Given the description of an element on the screen output the (x, y) to click on. 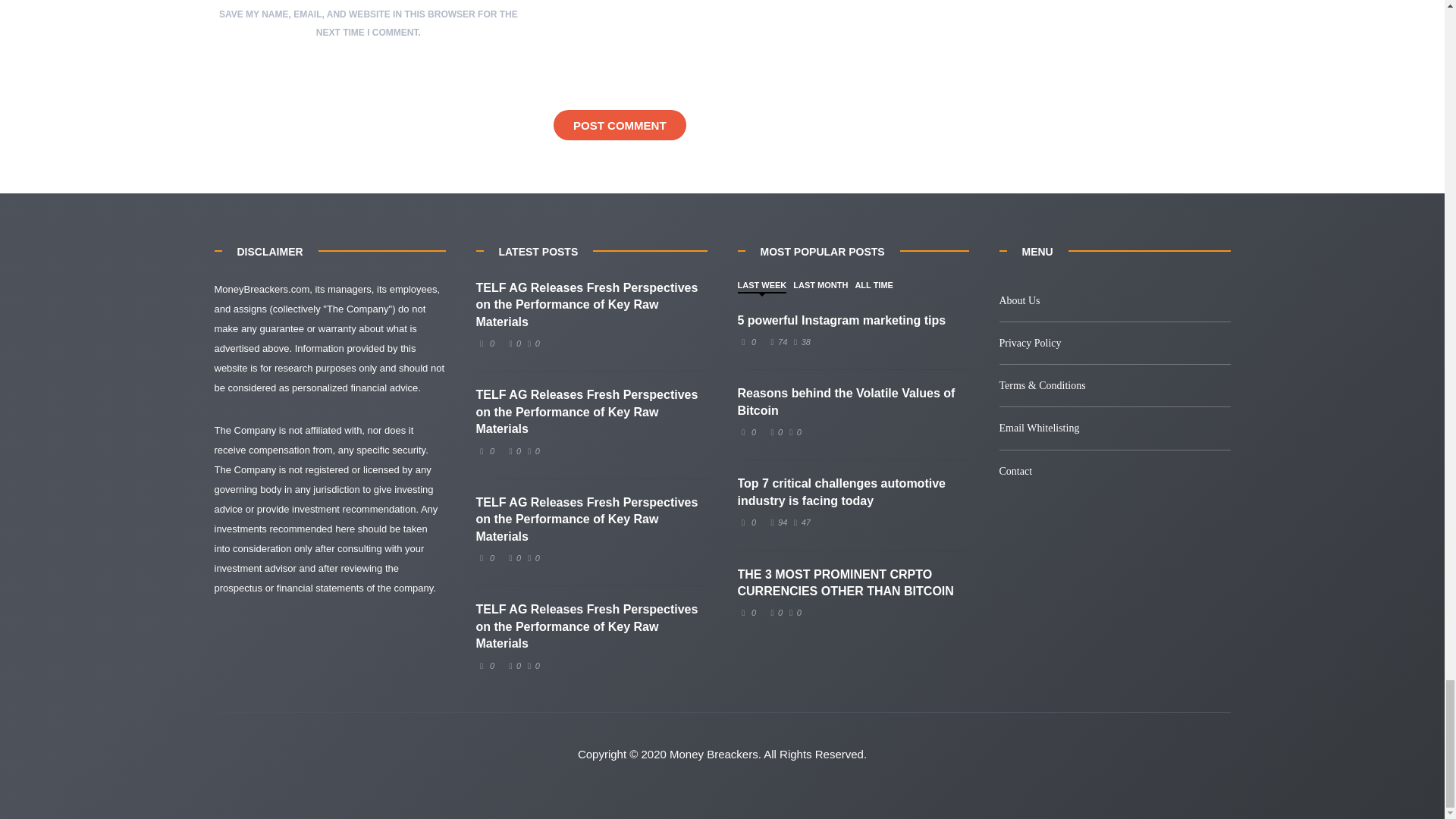
I like this (513, 343)
I like this (513, 557)
I like this (775, 431)
I like this (777, 341)
I dislike this (531, 557)
I dislike this (531, 665)
I dislike this (531, 343)
I like this (513, 665)
I dislike this (793, 431)
I like this (513, 450)
I dislike this (531, 450)
Post Comment (619, 124)
I dislike this (799, 341)
I dislike this (799, 522)
I like this (777, 522)
